Given the description of an element on the screen output the (x, y) to click on. 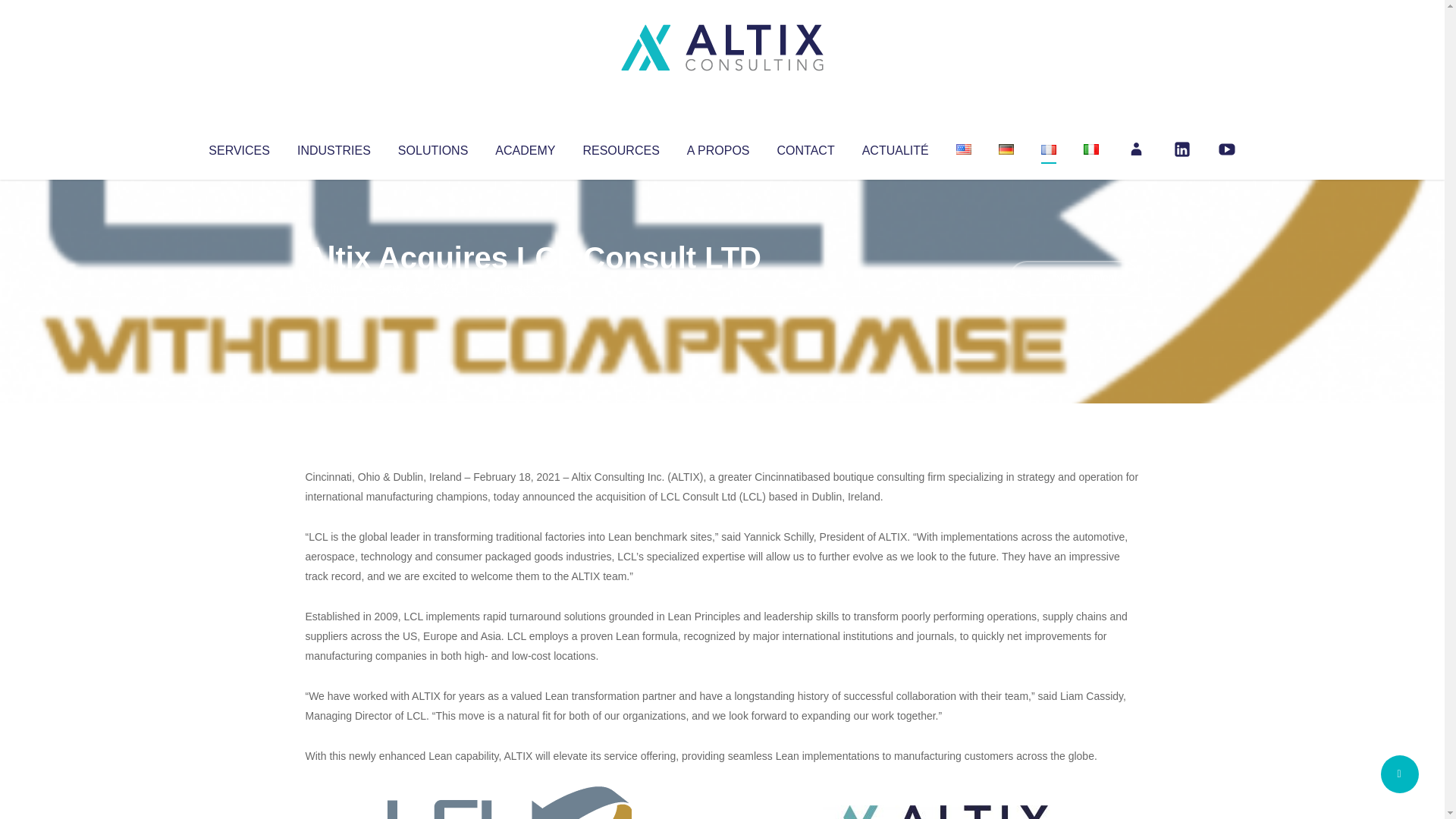
Articles par Altix (333, 287)
Uncategorized (530, 287)
ACADEMY (524, 146)
No Comments (1073, 278)
SERVICES (238, 146)
Altix (333, 287)
SOLUTIONS (432, 146)
RESOURCES (620, 146)
INDUSTRIES (334, 146)
A PROPOS (718, 146)
